Given the description of an element on the screen output the (x, y) to click on. 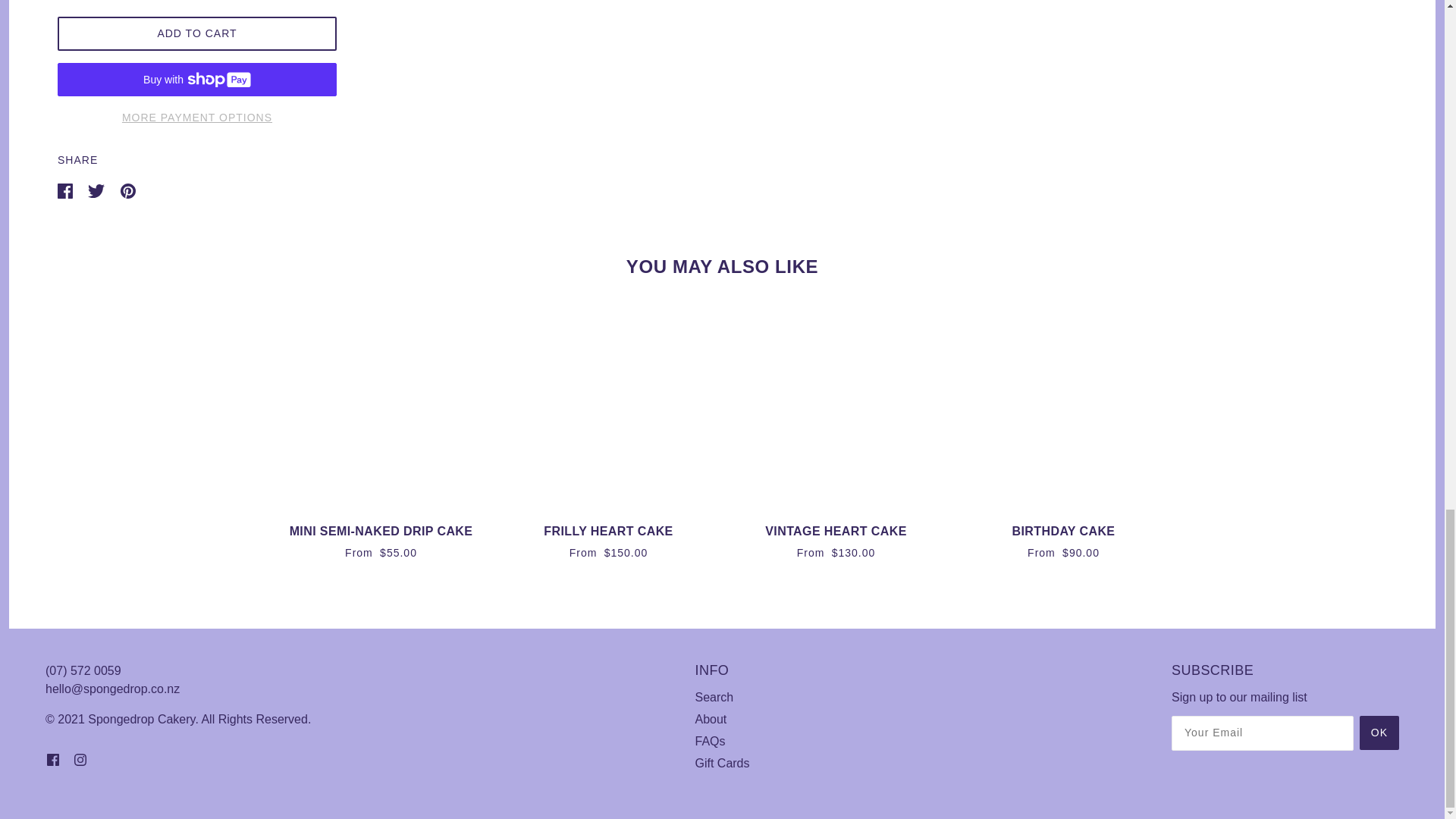
Gift Cards (721, 762)
Ok (1379, 732)
About (710, 718)
FAQs (709, 740)
Search (713, 697)
